Given the description of an element on the screen output the (x, y) to click on. 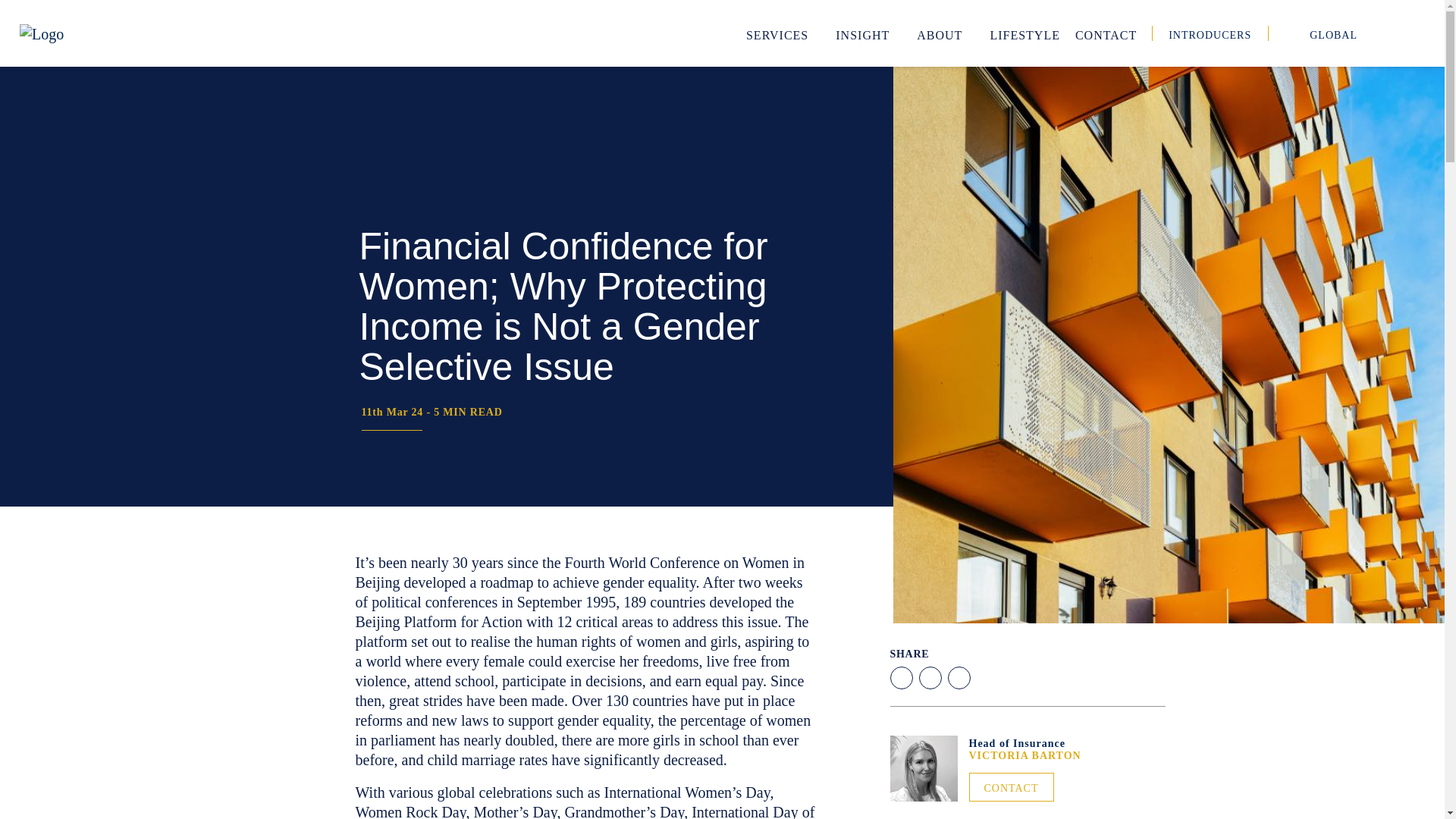
Logo (42, 34)
SERVICES (783, 33)
Services (783, 33)
Insight (868, 33)
